Given the description of an element on the screen output the (x, y) to click on. 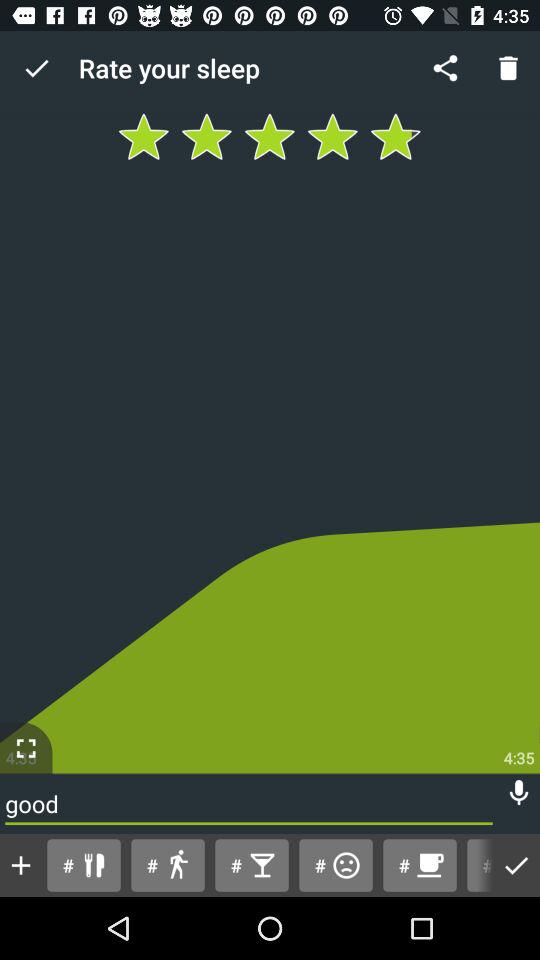
expand section (26, 748)
